Given the description of an element on the screen output the (x, y) to click on. 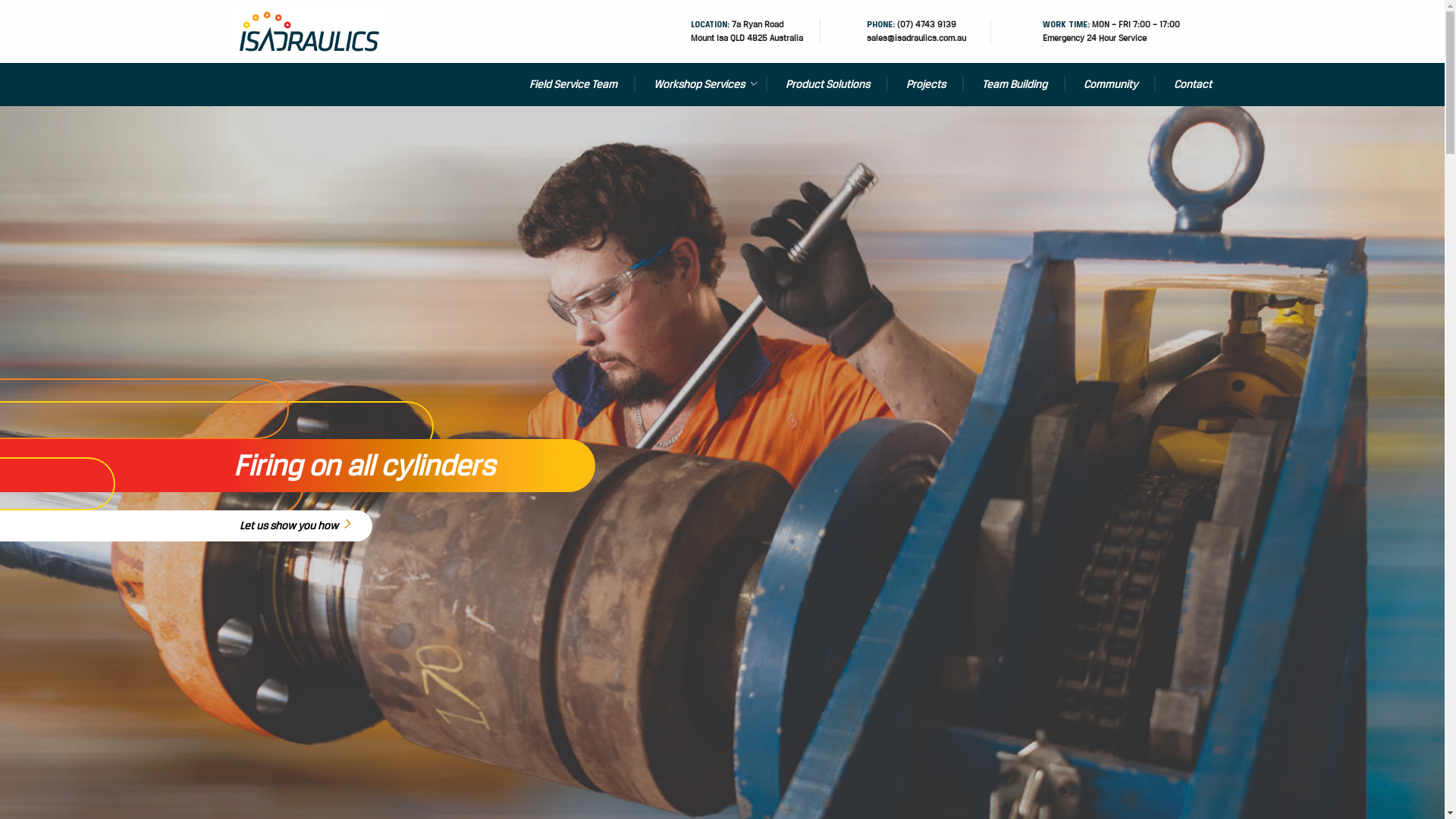
Workshop Services Element type: text (701, 84)
Contact Element type: text (1183, 84)
Community Element type: text (1109, 84)
Team Building Element type: text (1013, 84)
Field Service Team Element type: text (573, 84)
Let us show you how Element type: text (305, 525)
Projects Element type: text (925, 84)
Product Solutions Element type: text (827, 84)
